Given the description of an element on the screen output the (x, y) to click on. 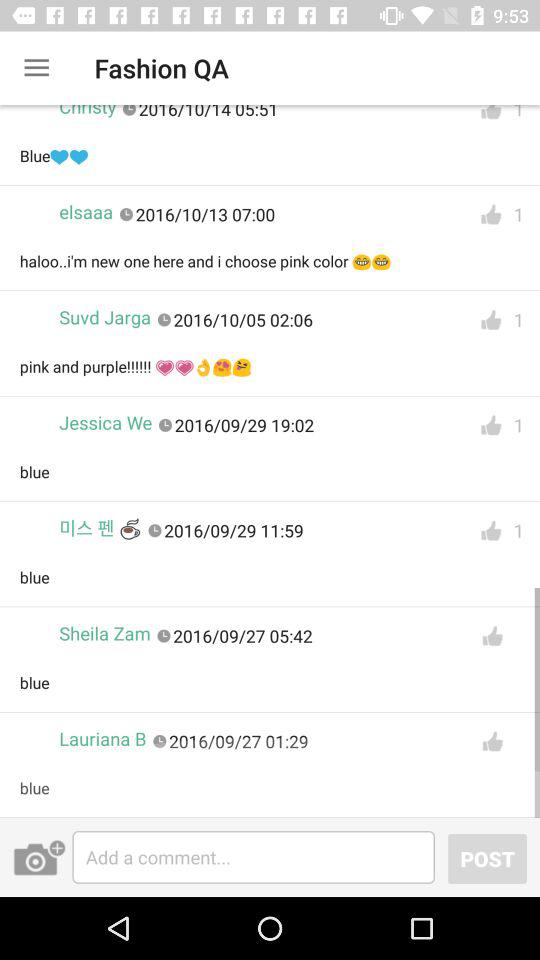
like option (492, 636)
